Given the description of an element on the screen output the (x, y) to click on. 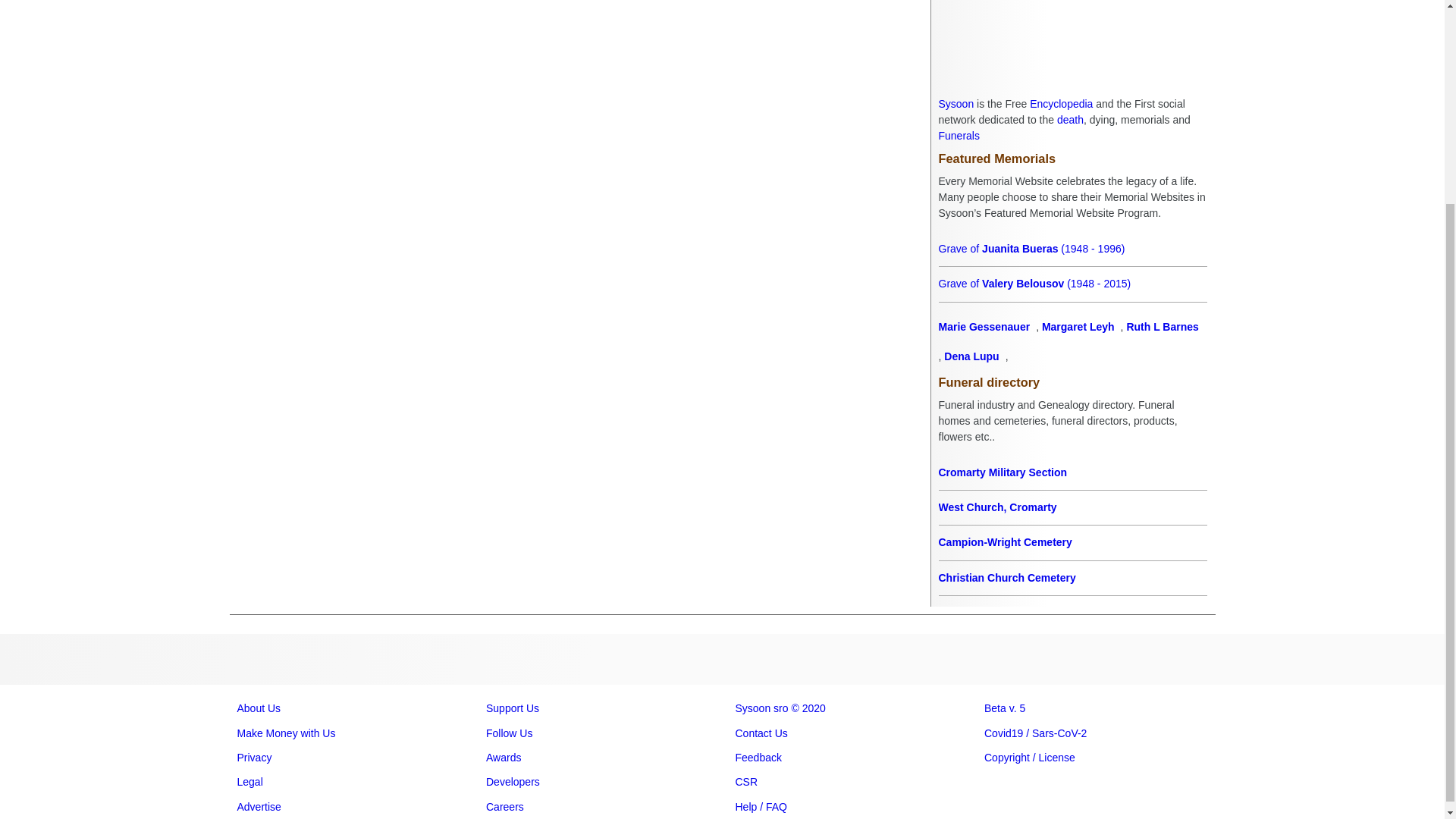
Juanita Bueras (1073, 248)
Campion-Wright Cemetery (1073, 542)
Cromarty Military Section (1073, 472)
Valery Belousov (1073, 283)
West Church, Cromarty (1073, 507)
